Given the description of an element on the screen output the (x, y) to click on. 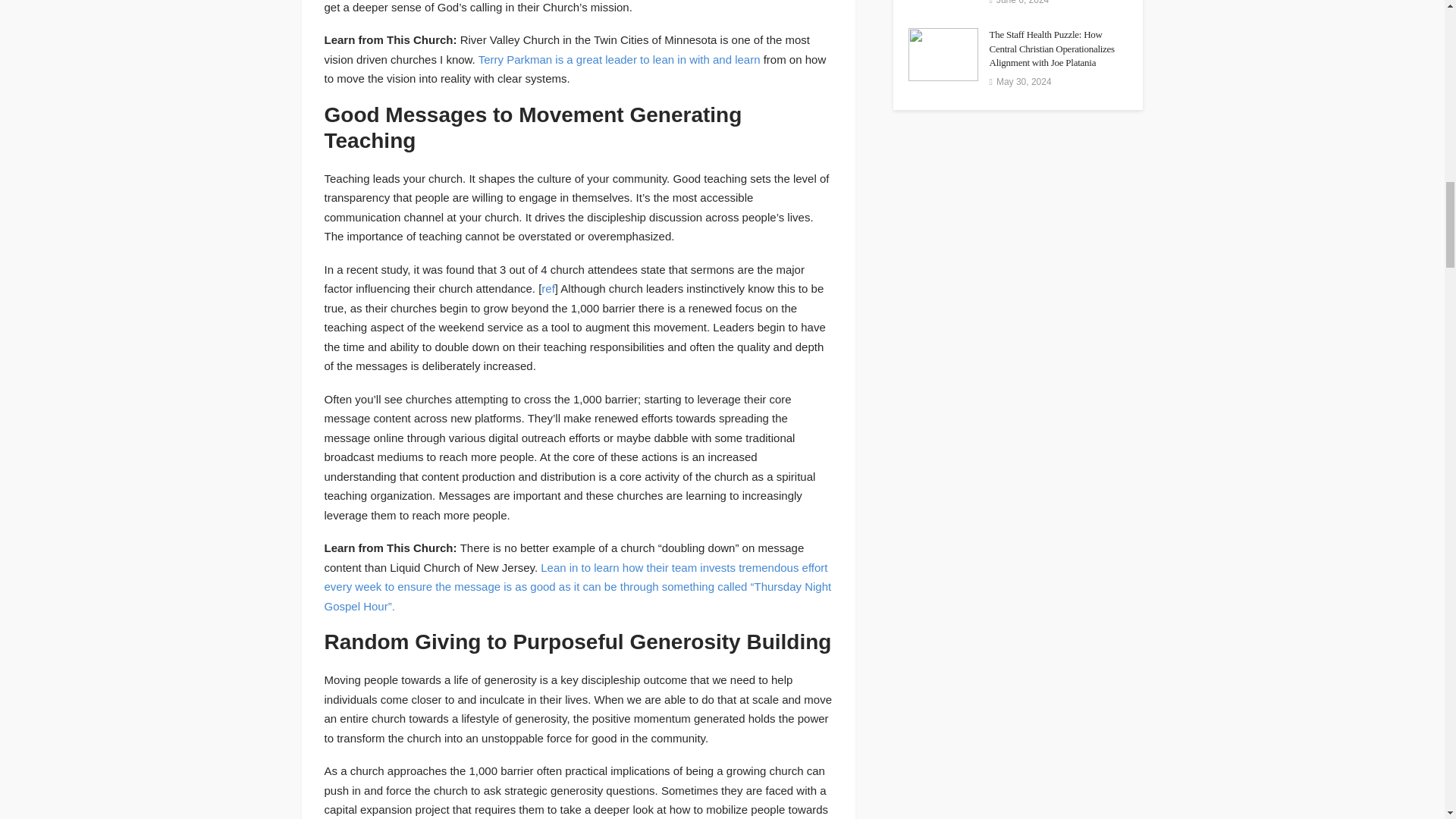
ref (547, 287)
Terry Parkman is a great leader to lean in with and learn (619, 59)
